Given the description of an element on the screen output the (x, y) to click on. 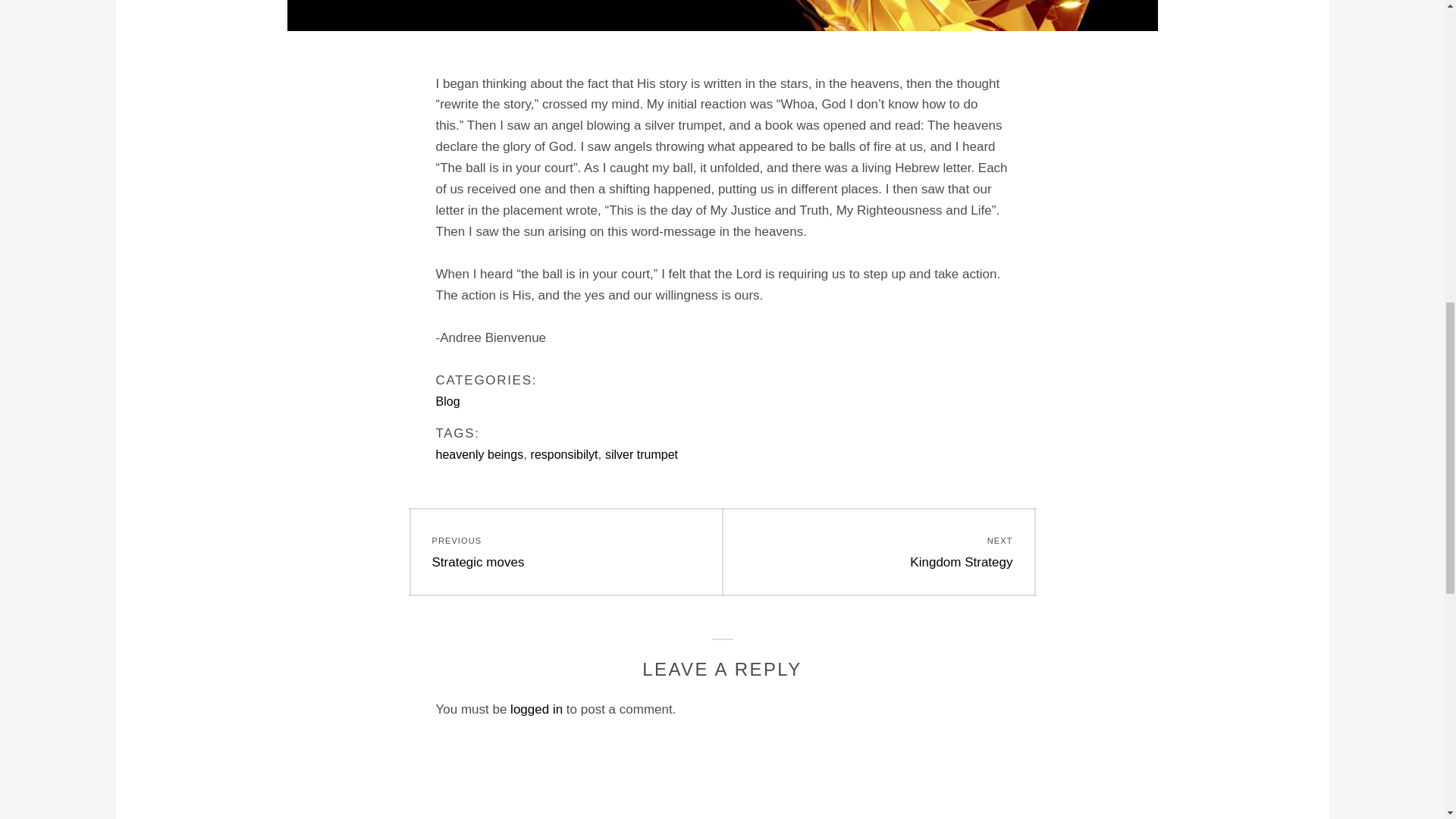
responsibilyt (564, 454)
heavenly beings (566, 551)
silver trumpet (478, 454)
Blog (641, 454)
logged in (447, 400)
